Given the description of an element on the screen output the (x, y) to click on. 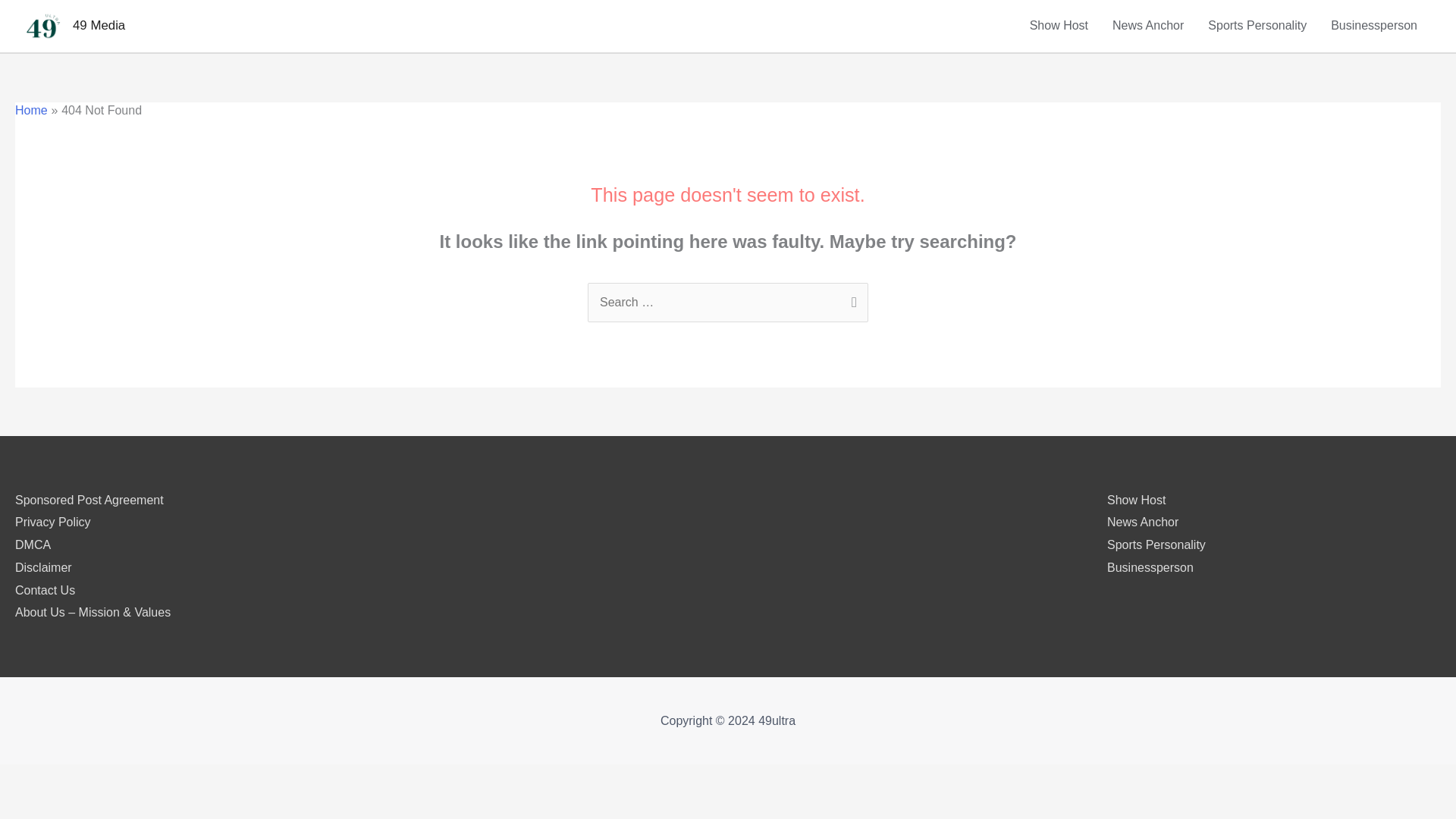
Sports Personality (1257, 25)
News Anchor (1147, 25)
Businessperson (1149, 567)
DMCA (32, 544)
Show Host (1058, 25)
News Anchor (1141, 521)
Home (31, 110)
Disclaimer (42, 567)
Privacy Policy (52, 521)
Search (850, 299)
